Given the description of an element on the screen output the (x, y) to click on. 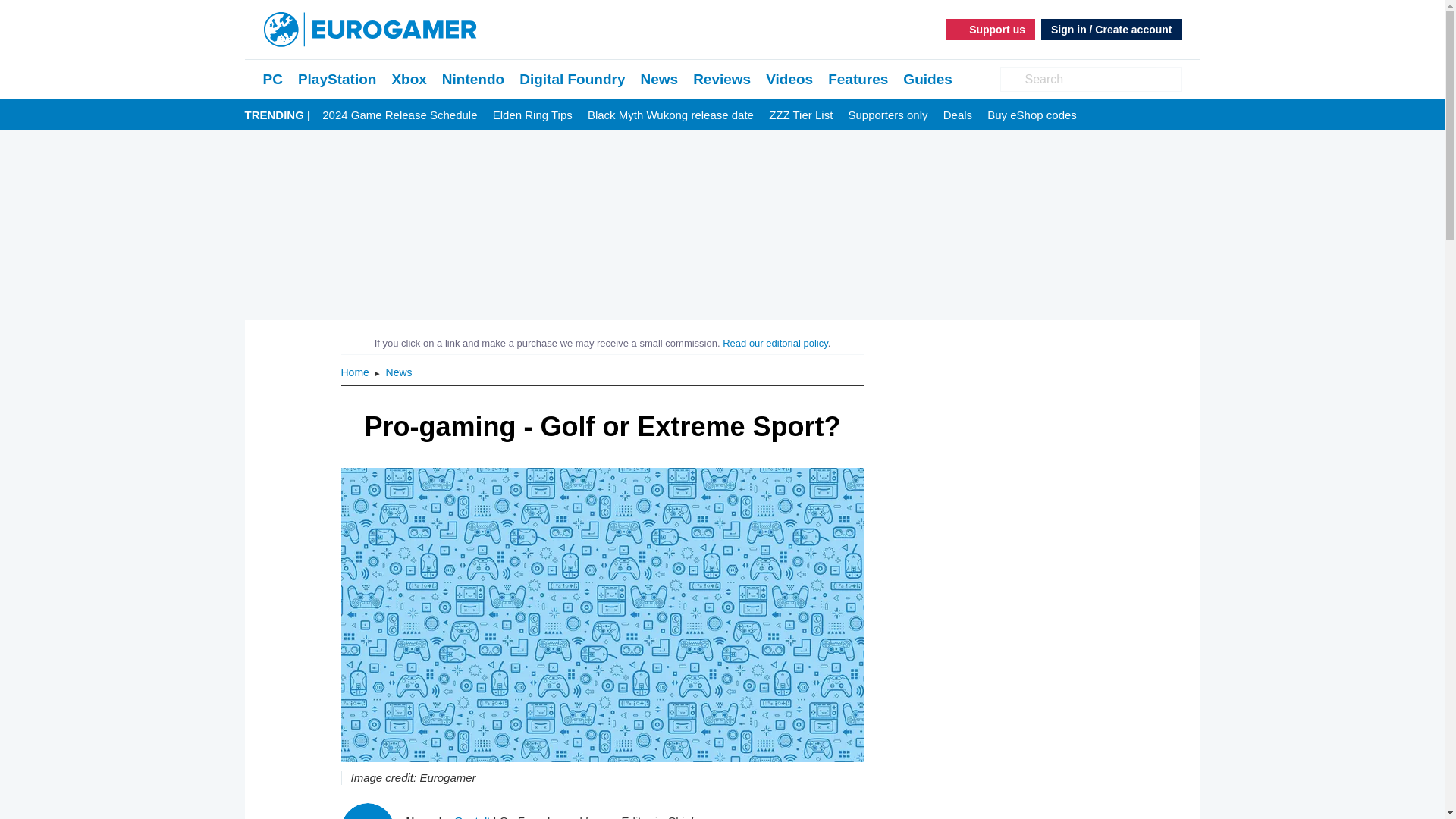
Deals (957, 114)
ZZZ Tier List (800, 114)
Nintendo (472, 78)
Reviews (722, 78)
Elden Ring Tips (532, 114)
Gestalt (472, 816)
News (659, 78)
Buy eShop codes (1032, 114)
ZZZ Tier List (800, 114)
Xbox (408, 78)
